Given the description of an element on the screen output the (x, y) to click on. 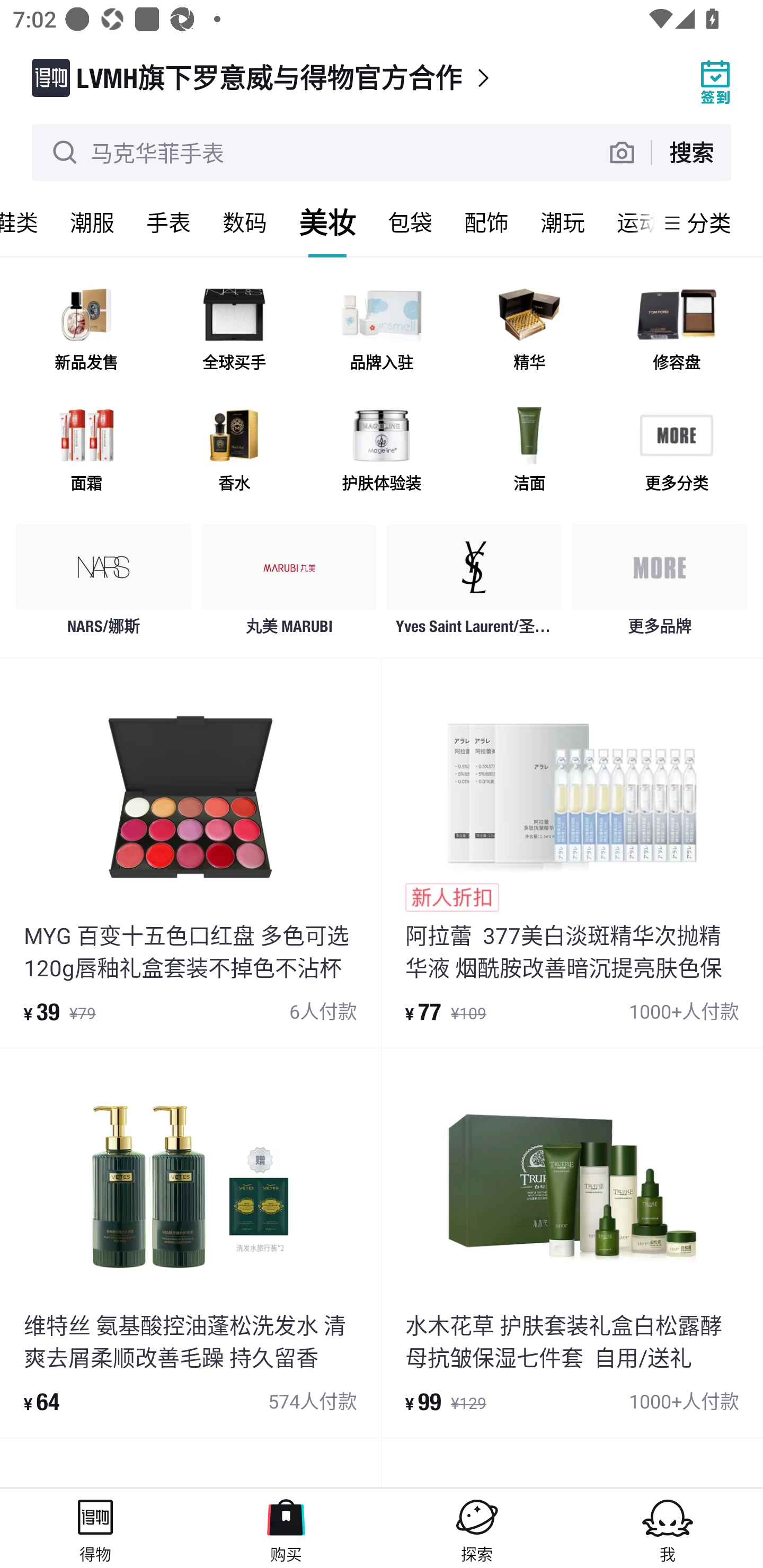
搜索 (690, 152)
鞋类 (27, 222)
潮服 (92, 222)
手表 (168, 222)
数码 (244, 222)
美妆 (327, 222)
包袋 (410, 222)
配饰 (486, 222)
潮玩 (562, 222)
运动 (627, 222)
分类 (708, 222)
新品发售 (86, 329)
全球买手 (233, 329)
品牌入驻 (381, 329)
精华 (528, 329)
修容盘 (676, 329)
面霜 (86, 450)
香水 (233, 450)
护肤体验装 (381, 450)
洁面 (528, 450)
更多分类 (676, 450)
NARS/娜斯 (103, 583)
丸美 MARUBI (288, 583)
Yves Saint Laurent/圣罗兰 (473, 583)
更多品牌 (658, 583)
得物 (95, 1528)
购买 (285, 1528)
探索 (476, 1528)
我 (667, 1528)
